Given the description of an element on the screen output the (x, y) to click on. 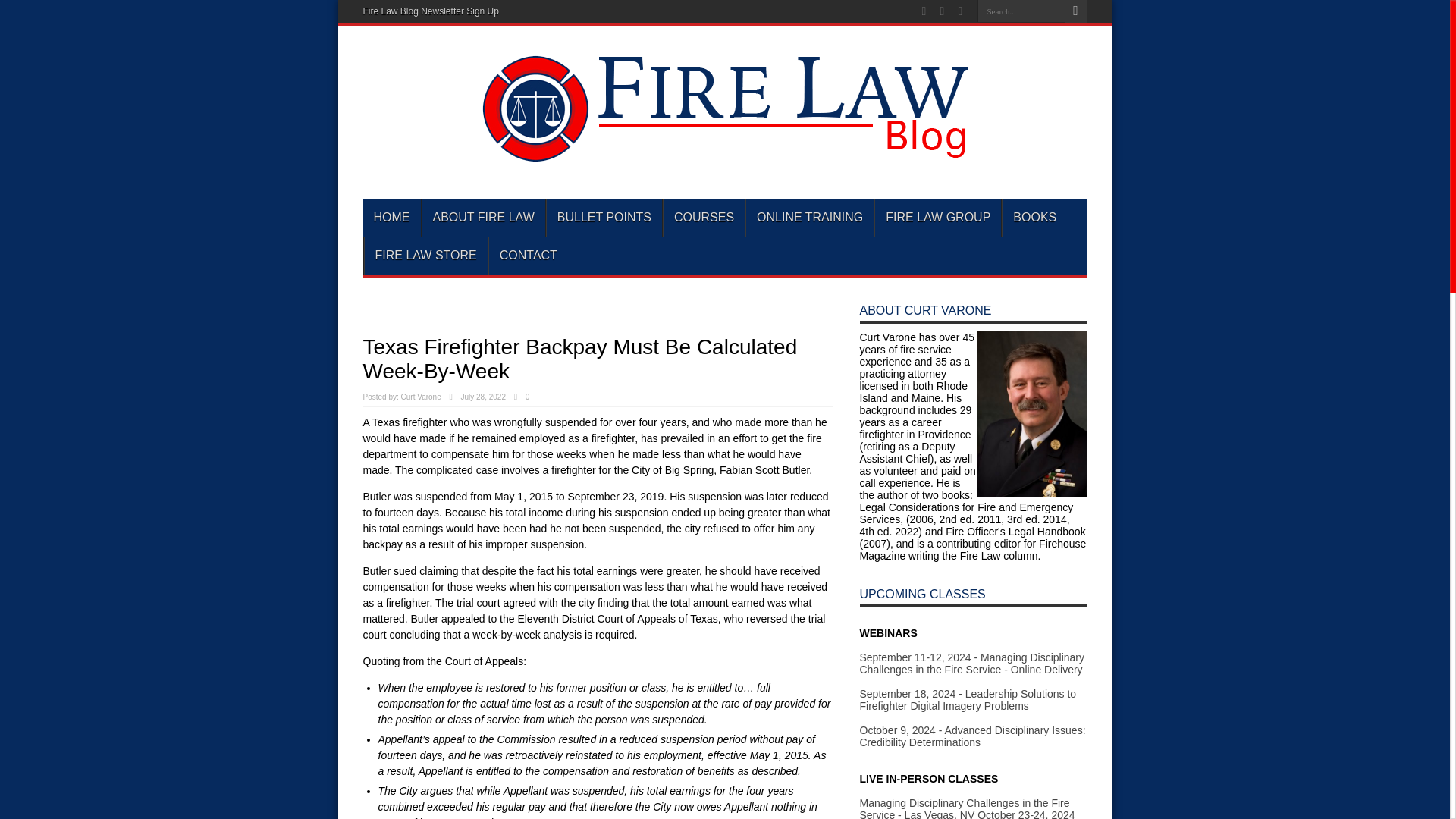
COURSES (703, 217)
FIRE LAW GROUP (938, 217)
BULLET POINTS (604, 217)
Fire Law Blog (724, 154)
Fire Law Blog Newsletter Sign Up (429, 11)
ABOUT FIRE LAW (483, 217)
ONLINE TRAINING (809, 217)
CONTACT (527, 255)
BOOKS (1034, 217)
